Given the description of an element on the screen output the (x, y) to click on. 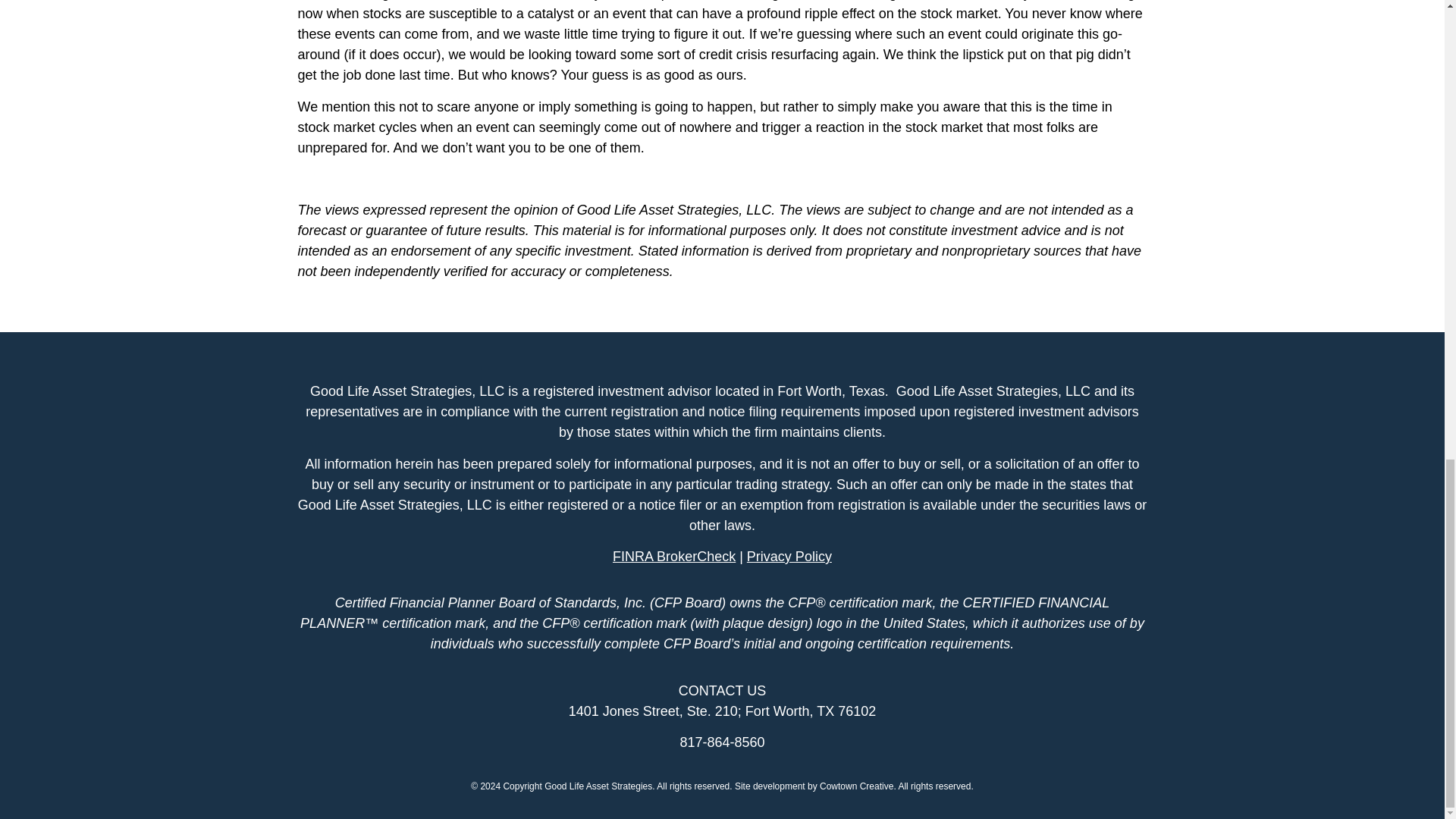
1401 Jones Street, Ste. 210; Fort Worth, TX 76102 (722, 711)
Cowtown Creative (856, 786)
FINRA BrokerCheck (673, 556)
817-864-8560 (721, 742)
 Privacy Policy (786, 556)
